Given the description of an element on the screen output the (x, y) to click on. 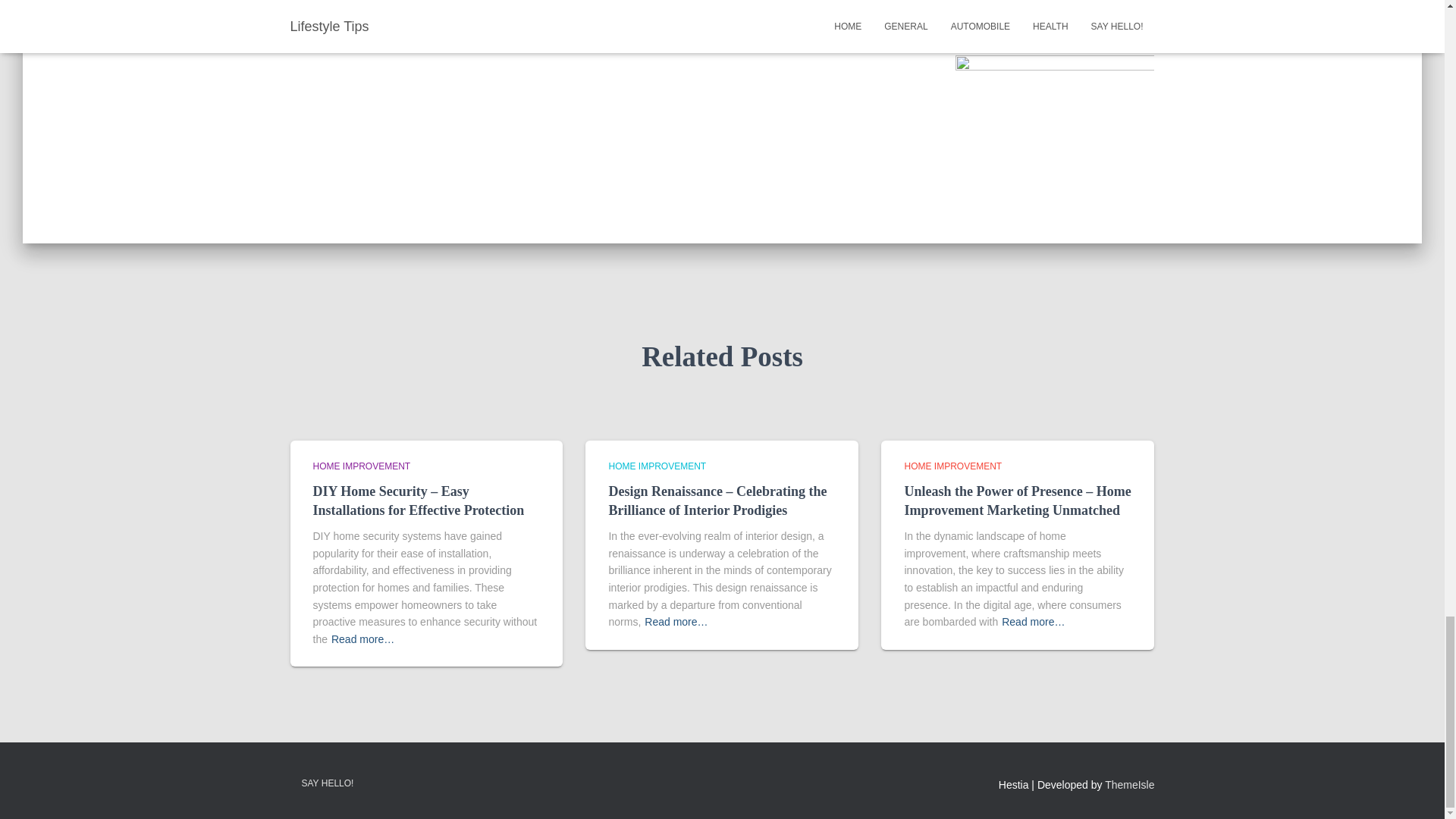
View all posts in Home Improvement (952, 466)
View all posts in Home Improvement (657, 466)
View all posts in Home Improvement (361, 466)
